Given the description of an element on the screen output the (x, y) to click on. 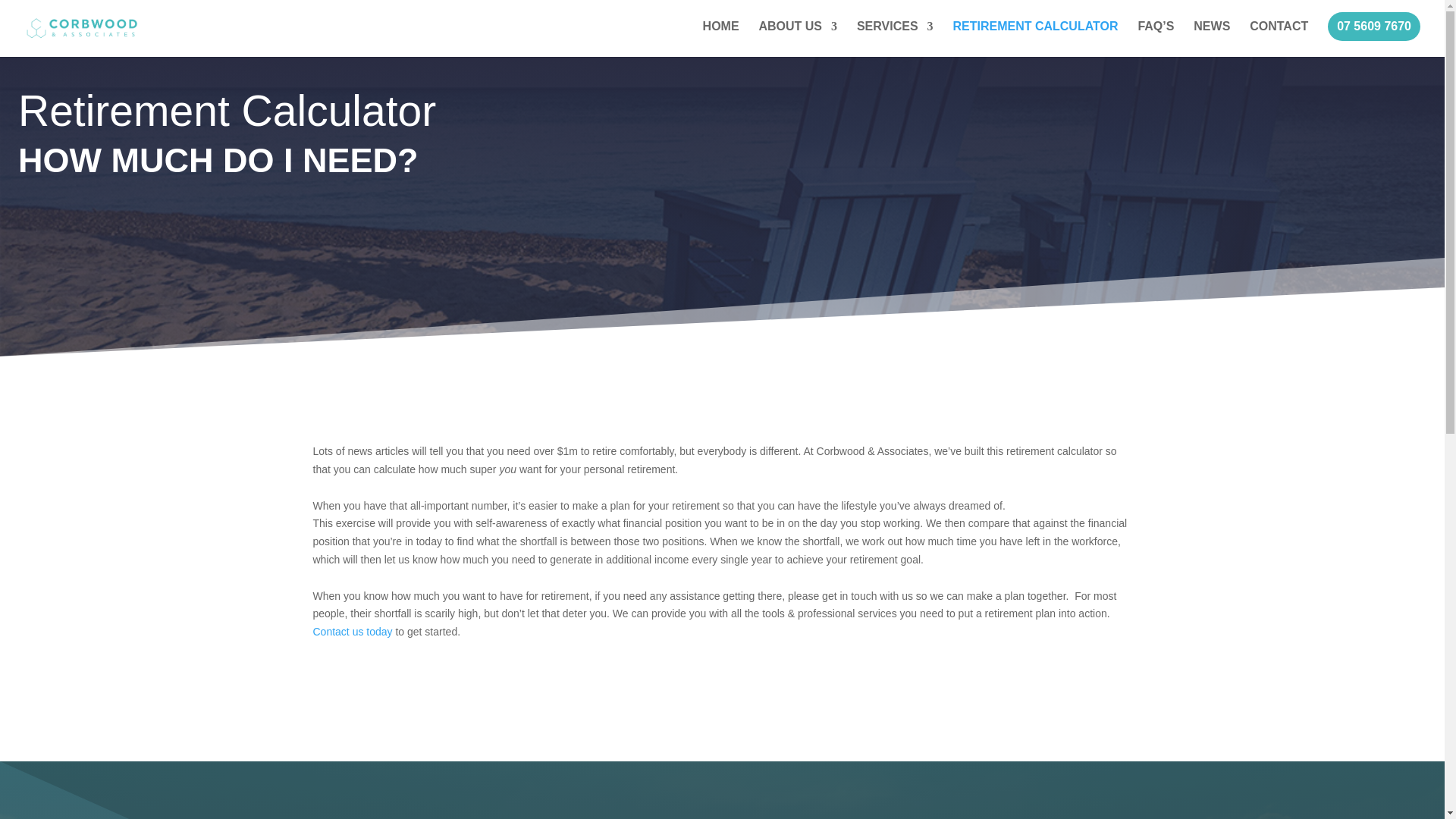
CONTACT (1278, 38)
07 5609 7670 (1374, 26)
Contact us today (352, 631)
NEWS (1211, 38)
HOME (721, 38)
logonew365x100 (433, 814)
SERVICES (895, 38)
RETIREMENT CALCULATOR (1035, 38)
ABOUT US (797, 38)
CALCULATE (908, 793)
